Given the description of an element on the screen output the (x, y) to click on. 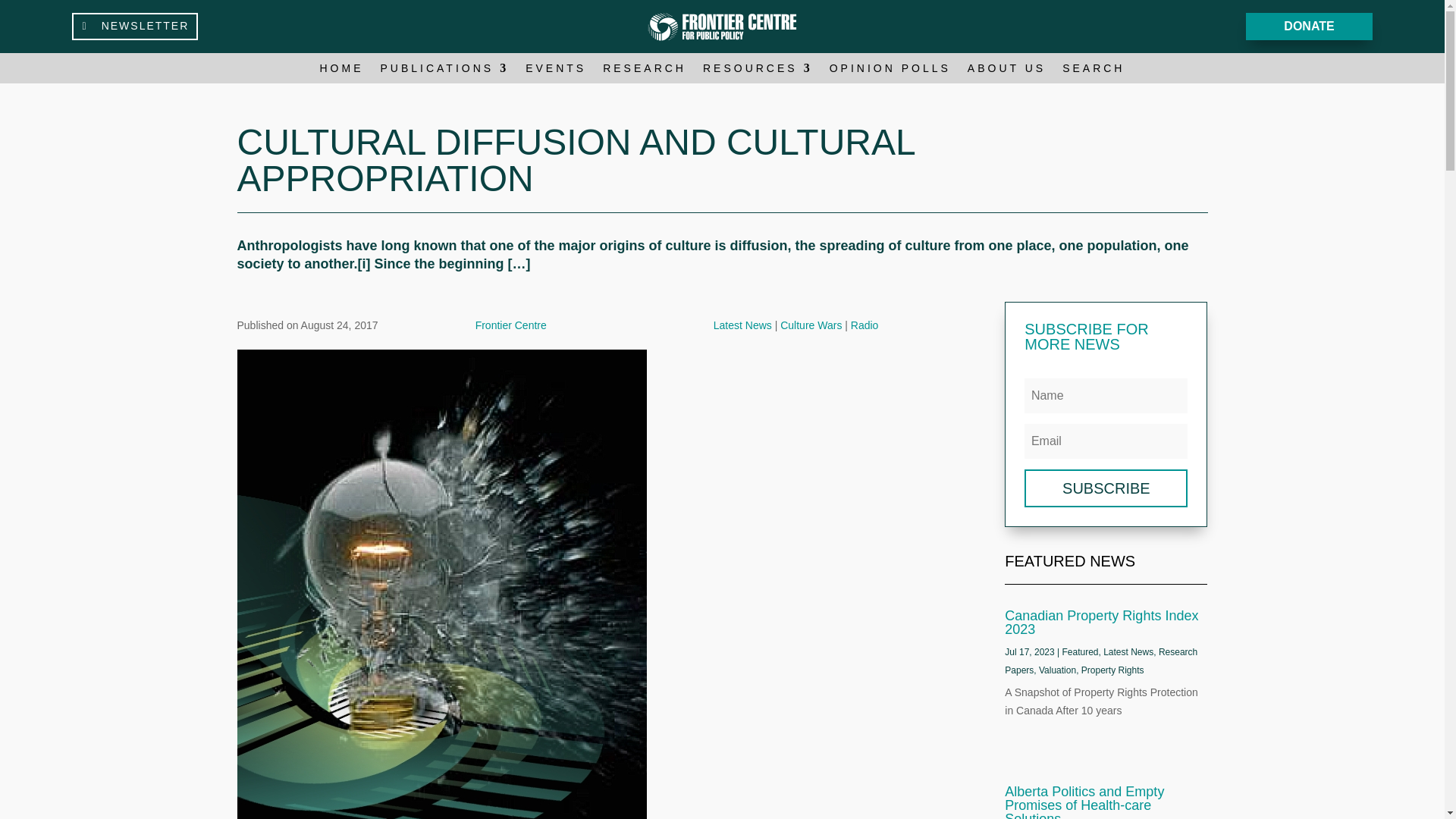
EVENTS (555, 71)
NEWSLETTER (134, 26)
SEARCH (1093, 71)
HOME (342, 71)
OPINION POLLS (889, 71)
RESOURCES (757, 71)
RESEARCH (643, 71)
DONATE (1308, 26)
FCPP Icon White (722, 25)
PUBLICATIONS (444, 71)
ABOUT US (1006, 71)
